Given the description of an element on the screen output the (x, y) to click on. 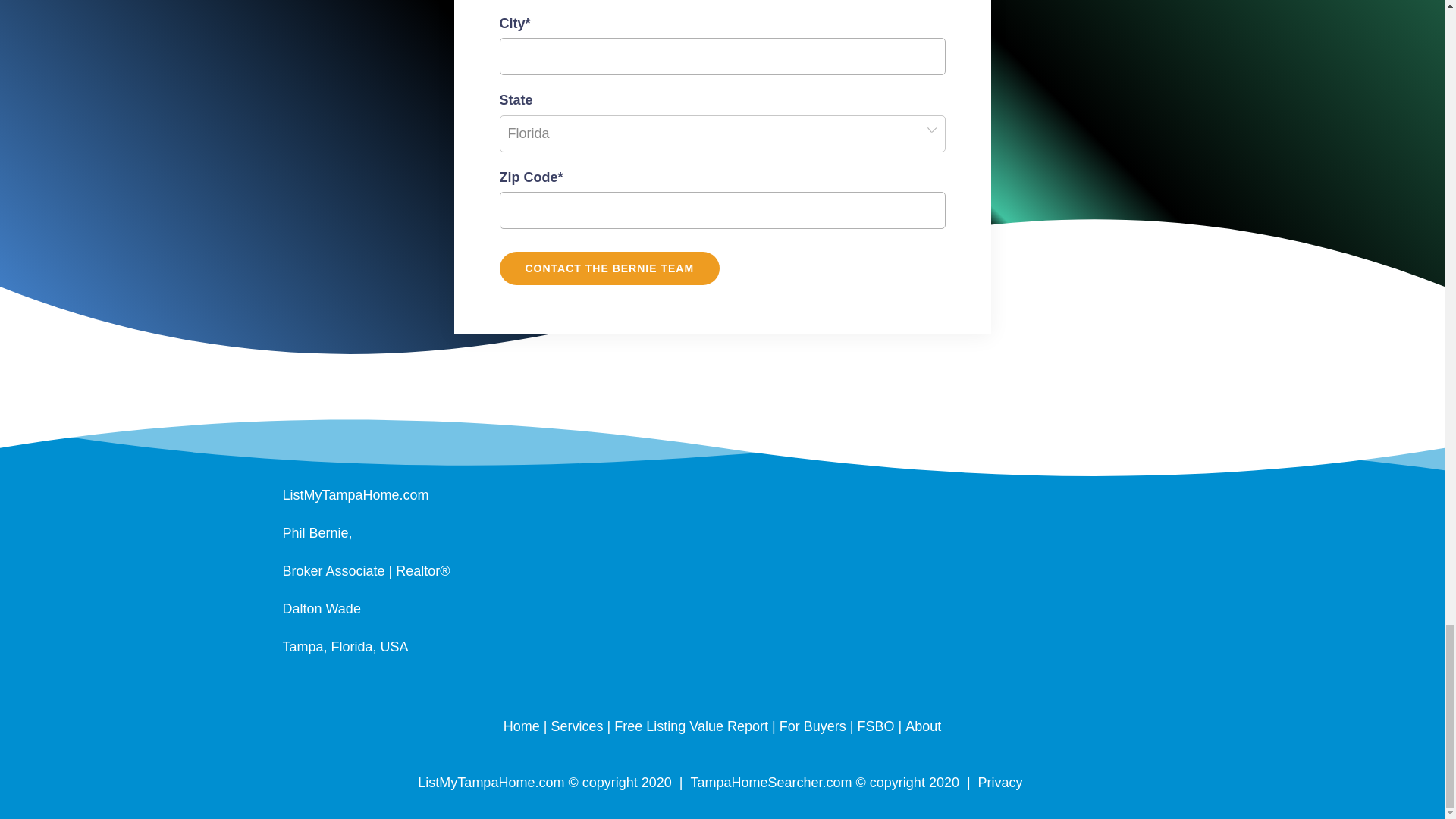
Privacy (1000, 782)
CONTACT THE BERNIE TEAM (609, 268)
FSBO (875, 726)
Services (577, 726)
About (922, 726)
Our Listing Services (577, 726)
ListMyTampaHome.com (521, 726)
Privacy Policy (1000, 782)
ListMyTampaHome.com (355, 494)
TampaHomeSearcher.com (770, 782)
